Given the description of an element on the screen output the (x, y) to click on. 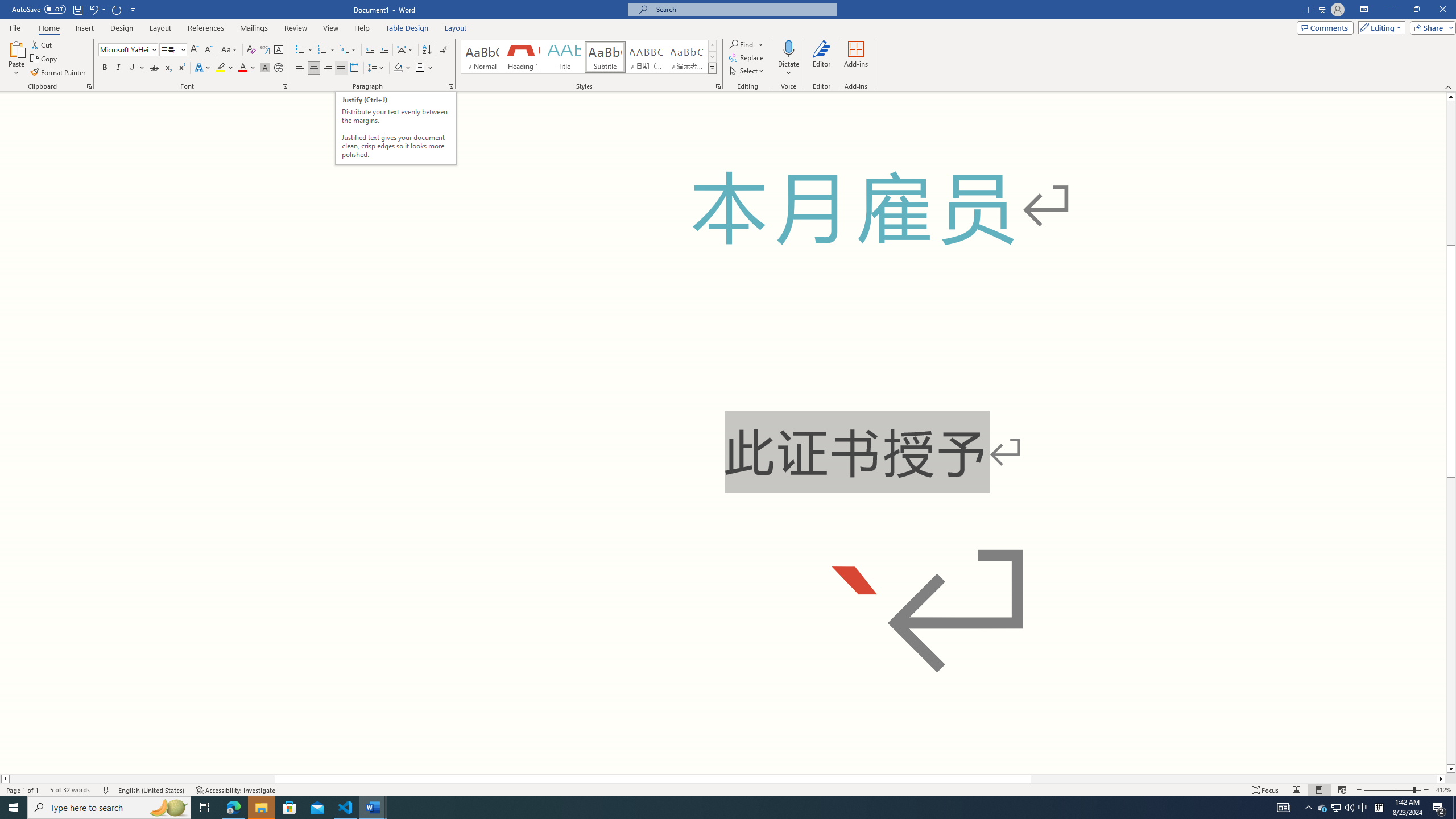
Font... (285, 85)
Editing (1379, 27)
Show/Hide Editing Marks (444, 49)
Page up (1450, 172)
Language English (United States) (152, 790)
Paragraph... (450, 85)
Bold (104, 67)
Shrink Font (208, 49)
Align Left (300, 67)
Word Count 5 of 32 words (69, 790)
